Given the description of an element on the screen output the (x, y) to click on. 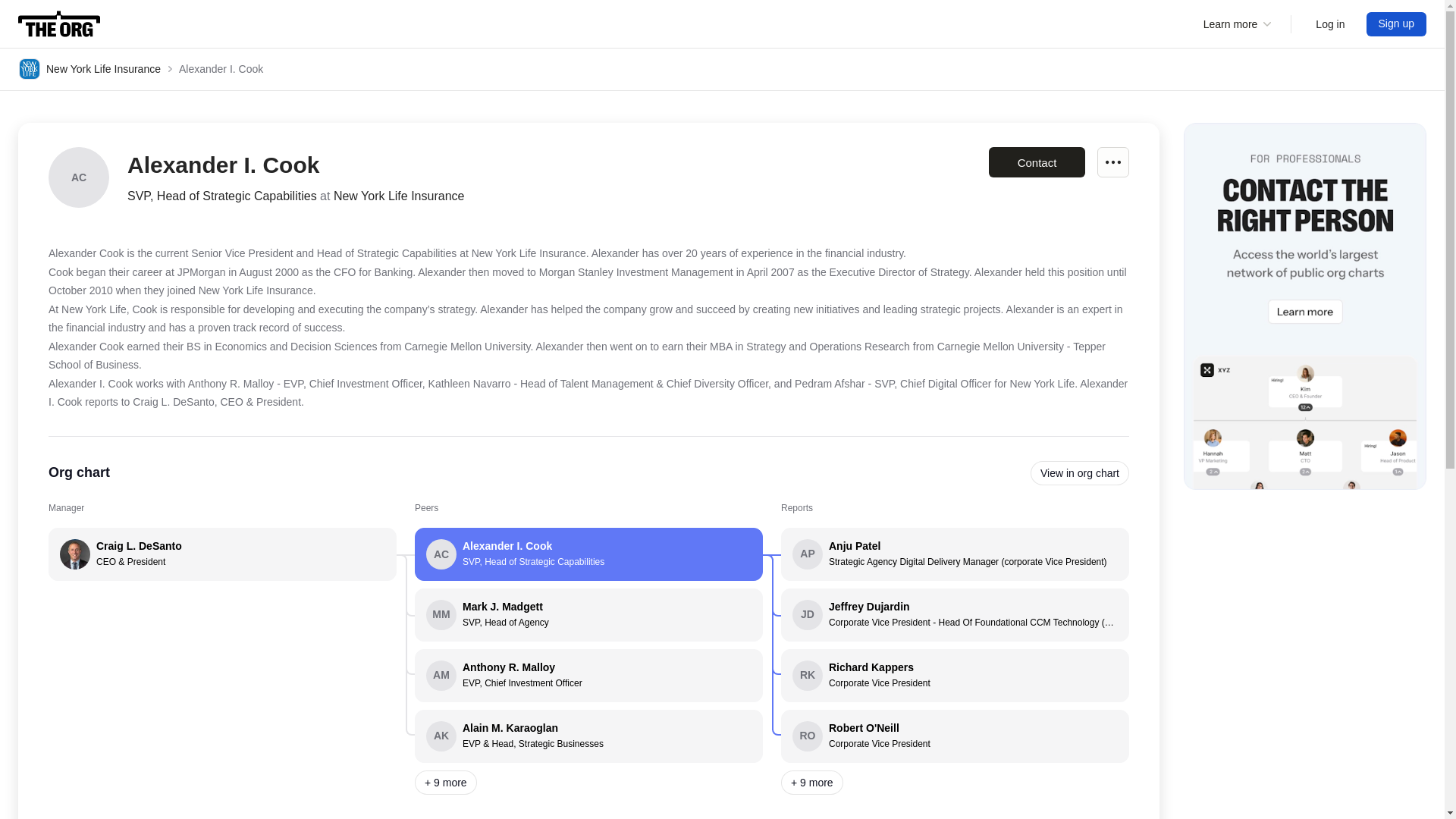
Sign up to The Org (1396, 24)
Sign up (1396, 24)
Log in (954, 736)
View in org chart (1329, 24)
The Org Home (588, 675)
Log in to The Org (1079, 473)
New York Life Insurance (58, 23)
Join, edit and report menu (1329, 24)
Learn more (89, 68)
Contact (954, 675)
